Given the description of an element on the screen output the (x, y) to click on. 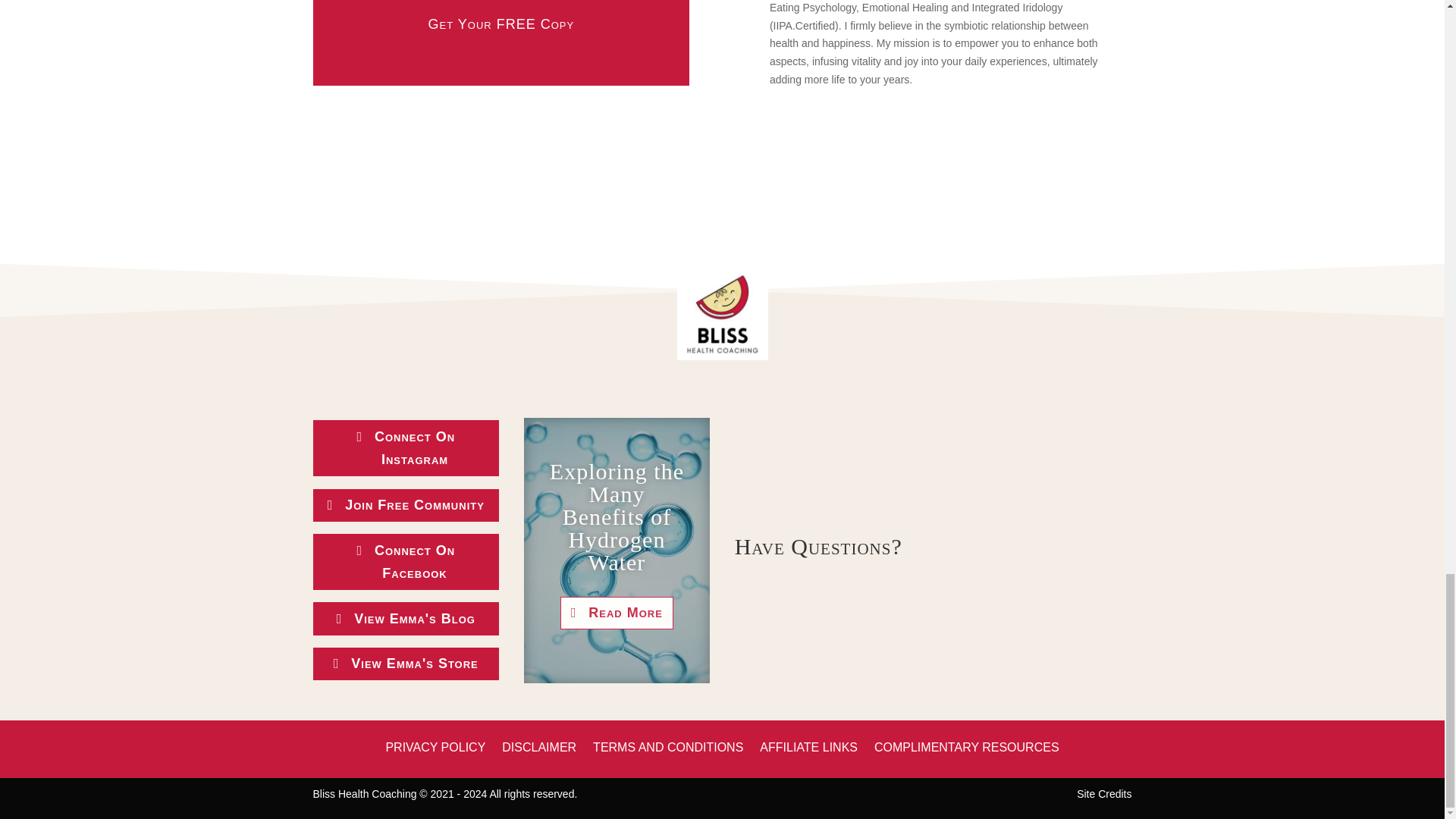
Check out who helps us with this site! (1104, 793)
